Given the description of an element on the screen output the (x, y) to click on. 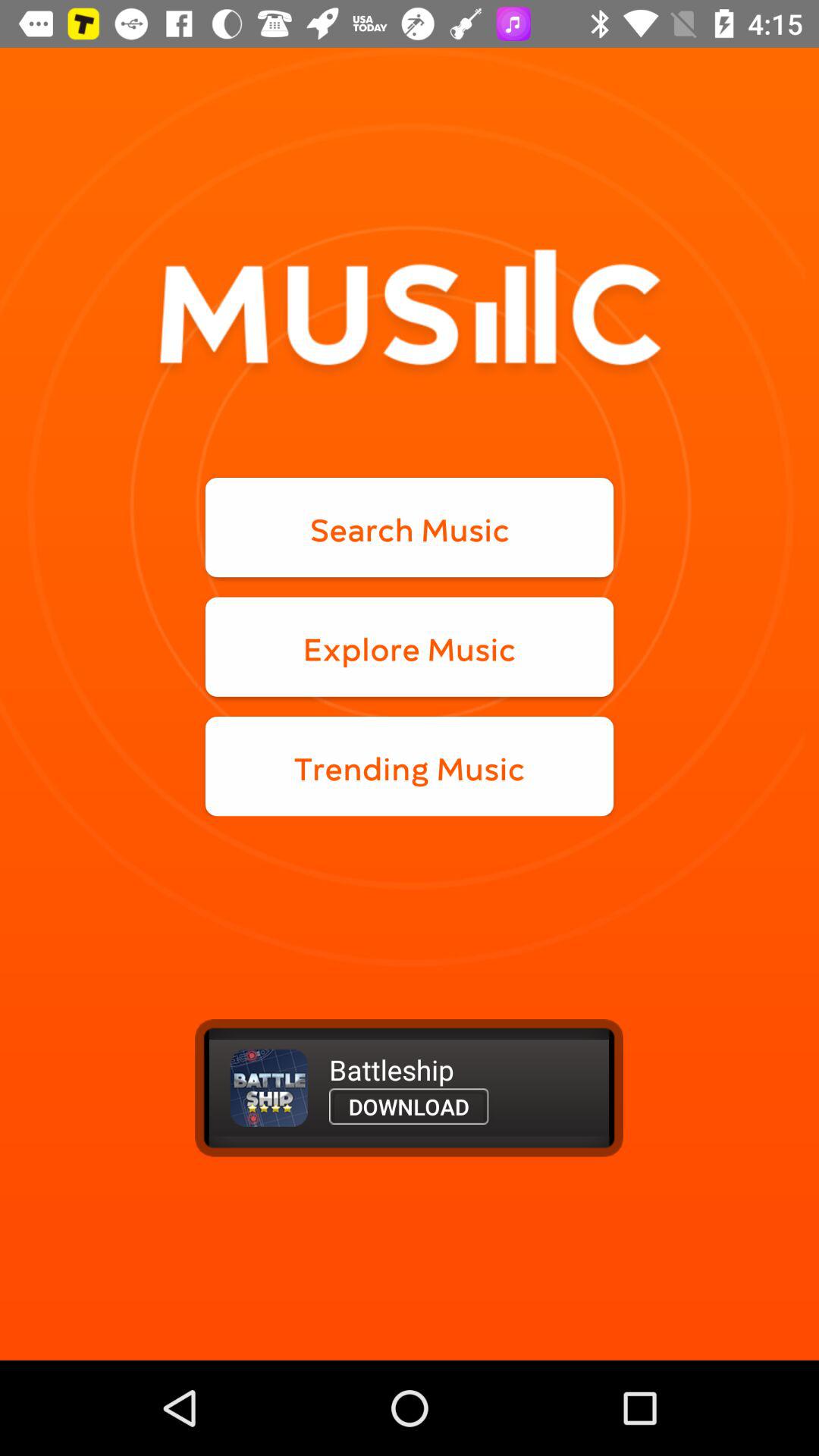
tap the item above trending music (409, 646)
